Given the description of an element on the screen output the (x, y) to click on. 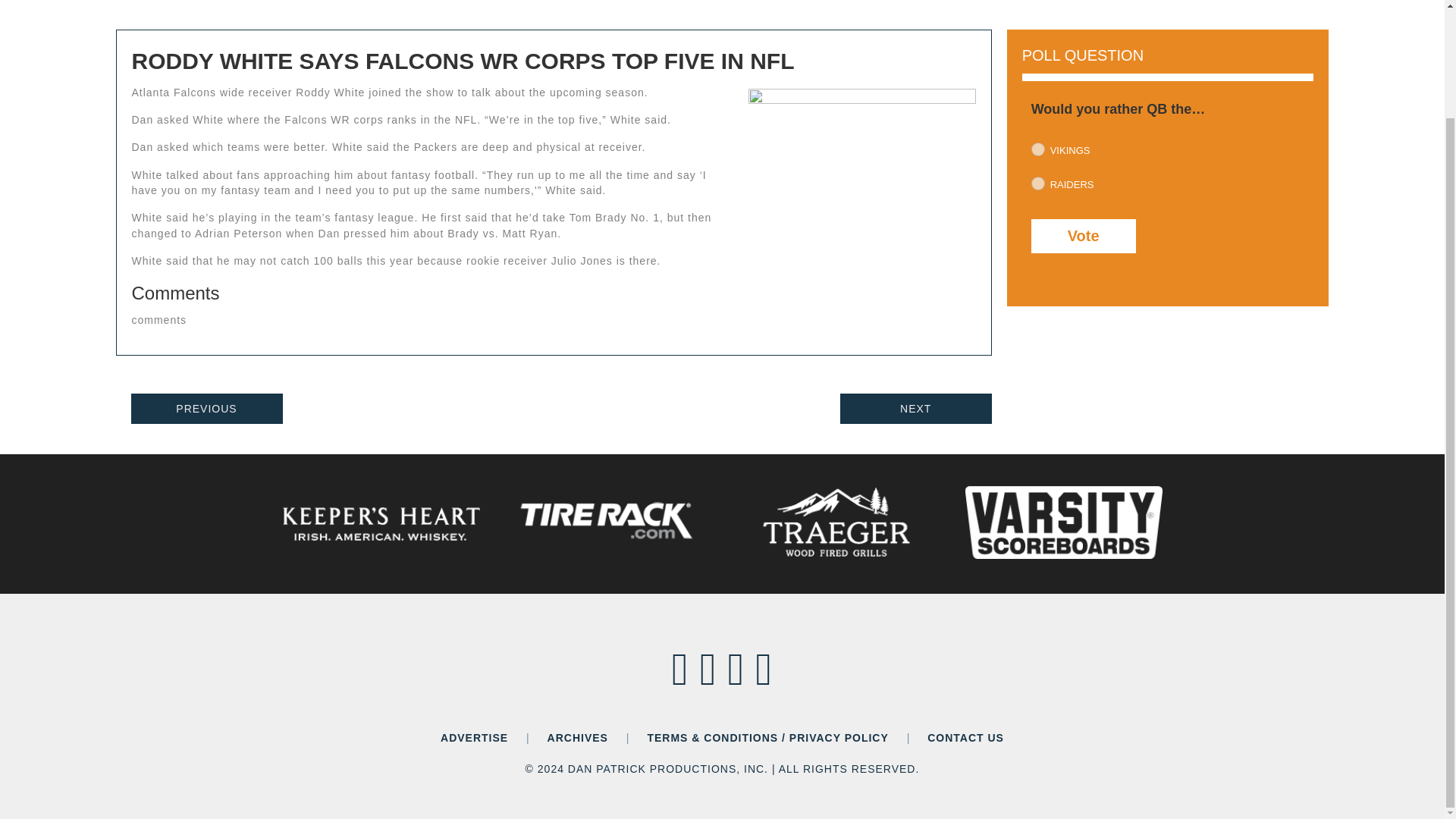
Varsity-logo (1062, 521)
63361583 (1037, 149)
Keepers-heart-Logo-400a (380, 523)
PREVIOUS (206, 408)
Roddy White (861, 152)
ADVERTISE (474, 737)
Vote (1082, 236)
NEXT (915, 408)
63361584 (1037, 183)
TireRackCom.whitegrey-250 (607, 521)
